Given the description of an element on the screen output the (x, y) to click on. 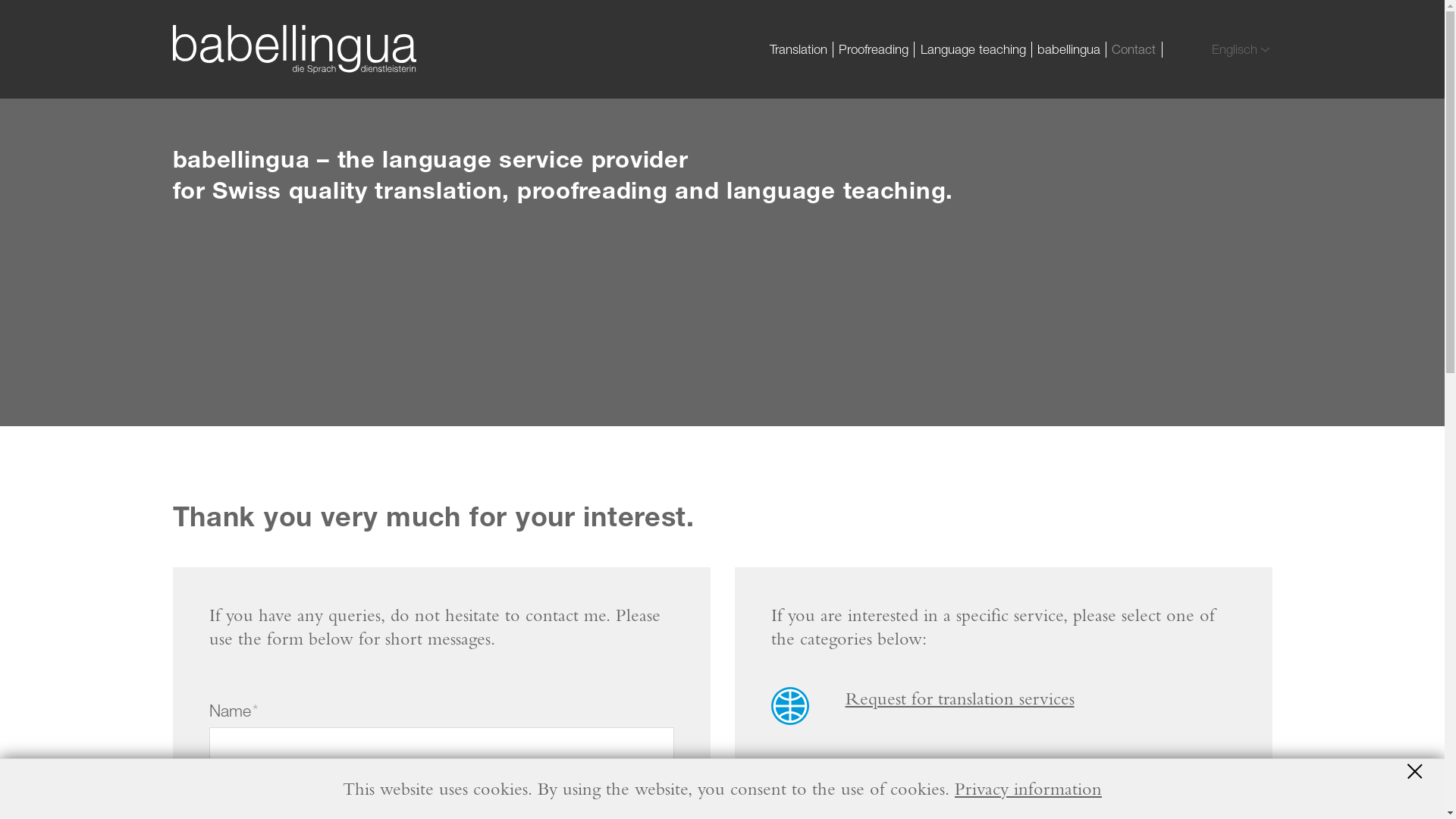
translation Element type: hover (789, 705)
Request for translation services Element type: text (958, 698)
close Element type: text (1420, 771)
Language teaching Element type: text (972, 48)
Translation Element type: text (798, 48)
Contact Element type: text (1133, 48)
Zur Startseite Element type: hover (294, 49)
babellingua Element type: text (1069, 48)
proofreading Element type: hover (789, 780)
Request for proofreading services Element type: text (967, 772)
Proofreading Element type: text (873, 48)
Privacy information Element type: text (1027, 788)
